Given the description of an element on the screen output the (x, y) to click on. 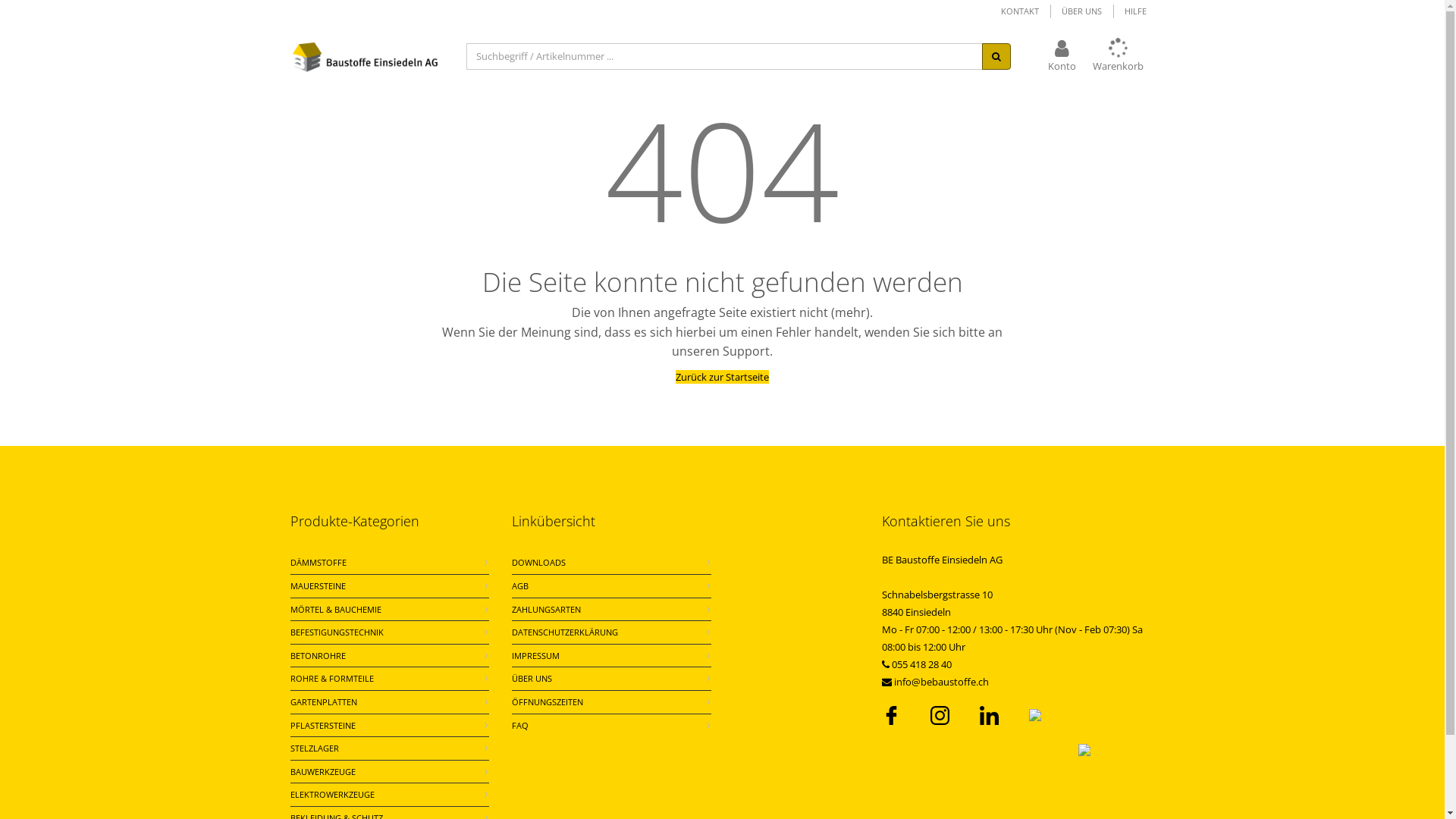
BAUWERKZEUGE Element type: text (321, 771)
FAQ Element type: text (519, 725)
HILFE Element type: text (1134, 11)
MAUERSTEINE Element type: text (317, 585)
DOWNLOADS Element type: text (538, 562)
Warenkorb Element type: text (1118, 56)
PFLASTERSTEINE Element type: text (321, 725)
AGB Element type: text (519, 585)
info@bebaustoffe.ch Element type: text (940, 681)
BEFESTIGUNGSTECHNIK Element type: text (335, 632)
ZAHLUNGSARTEN Element type: text (545, 609)
GARTENPLATTEN Element type: text (322, 701)
ELEKTROWERKZEUGE Element type: text (331, 794)
STELZLAGER Element type: text (313, 748)
KONTAKT Element type: text (1019, 11)
ROHRE & FORMTEILE Element type: text (331, 678)
IMPRESSUM Element type: text (535, 655)
BETONROHRE Element type: text (317, 655)
Konto Element type: text (1061, 56)
